Given the description of an element on the screen output the (x, y) to click on. 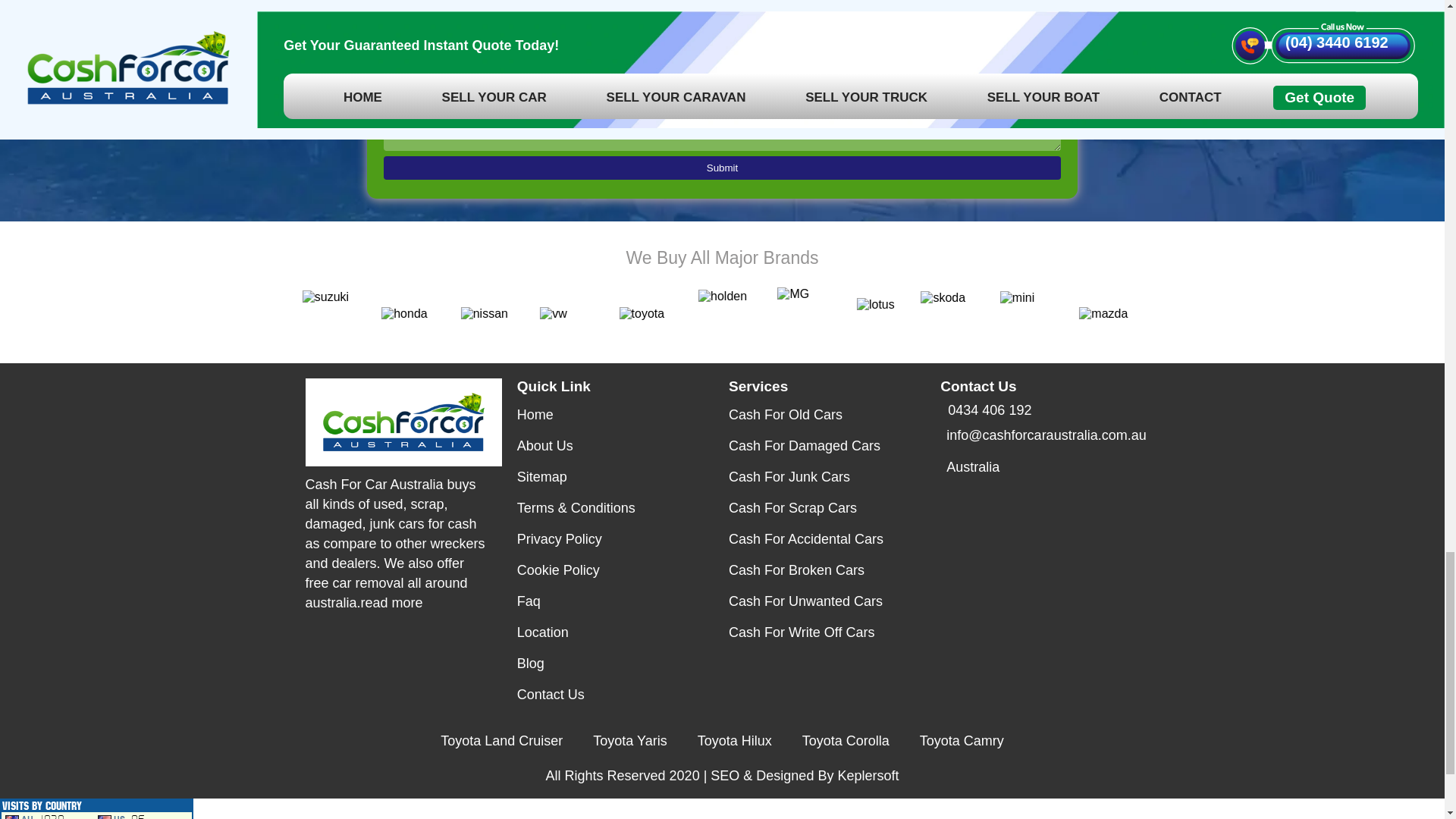
Please type a valid year e.g. 2020 (895, 20)
Submit (722, 167)
Please type a number (895, 2)
